Given the description of an element on the screen output the (x, y) to click on. 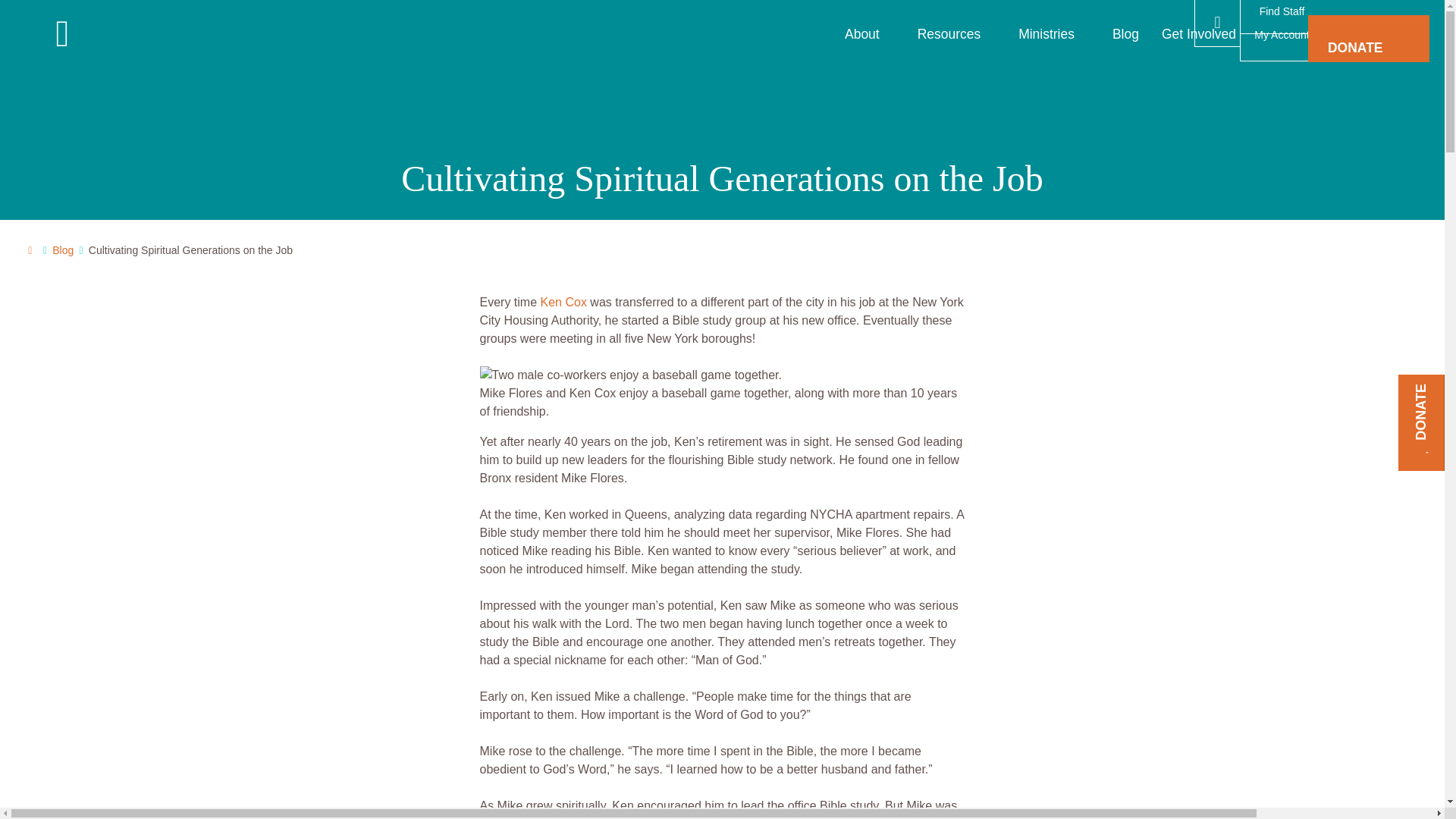
Get Involved (1198, 33)
Resources (948, 33)
My Account (1281, 42)
My Account (1281, 42)
The Navigators (153, 34)
About (861, 33)
Read our Blog (63, 250)
Search (22, 22)
The Navigators Home (153, 34)
Search The Navigators' (1216, 23)
